Given the description of an element on the screen output the (x, y) to click on. 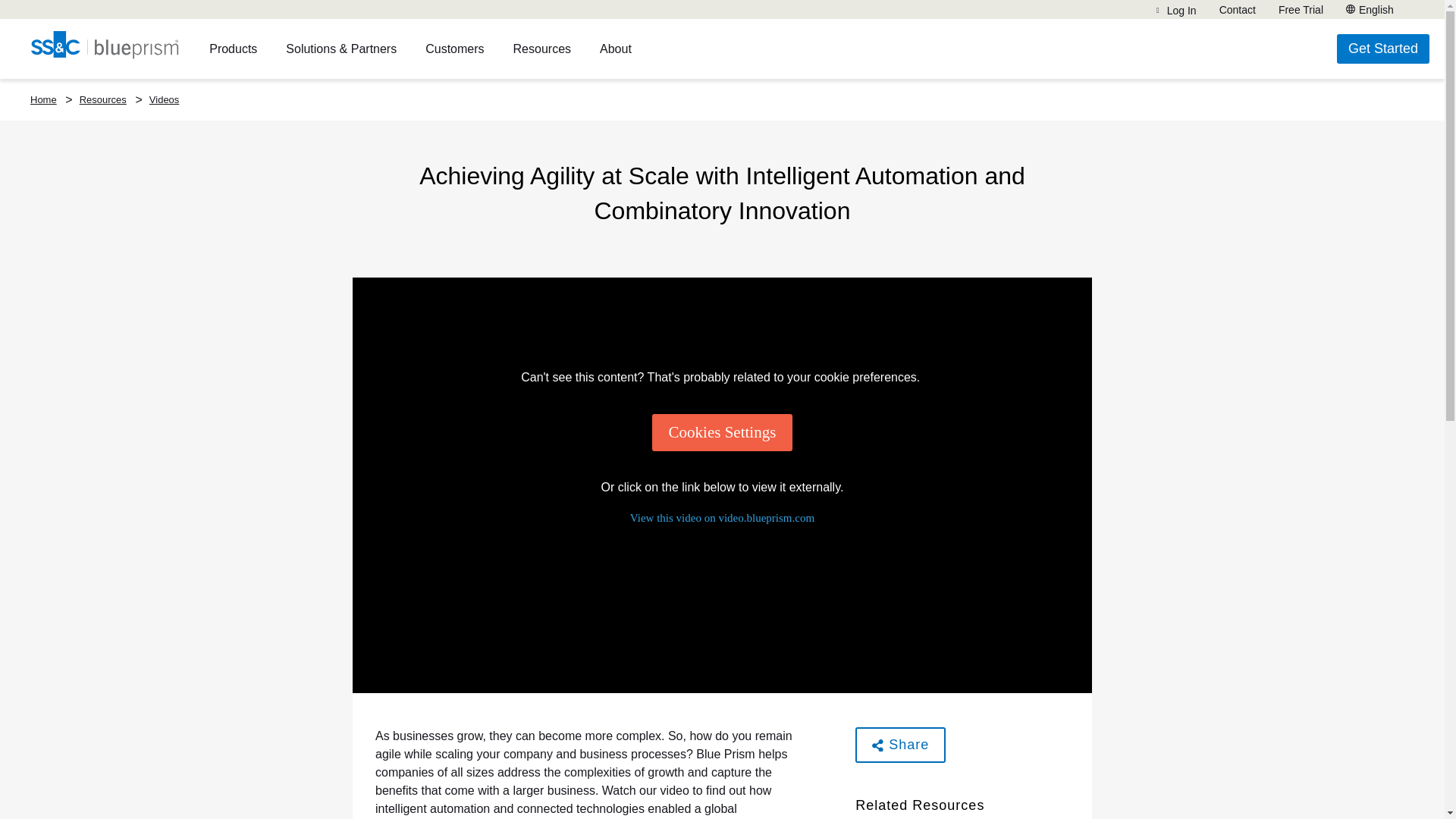
Log In (1176, 10)
Products (233, 48)
Free Trial (1300, 9)
Contact (1237, 9)
